Given the description of an element on the screen output the (x, y) to click on. 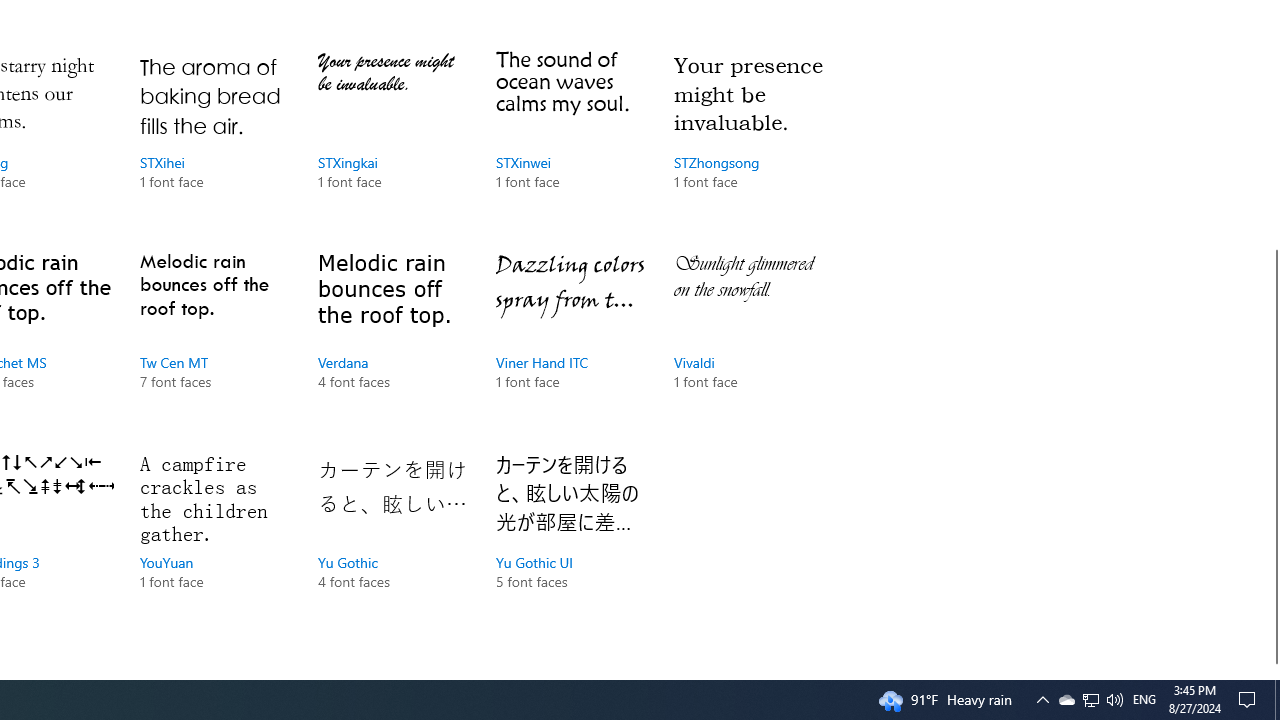
Yu Gothic UI, 5 font faces (1091, 699)
STXihei, 1 font face (570, 540)
Tray Input Indicator - English (United States) (1066, 699)
STXinwei, 1 font face (214, 141)
